Given the description of an element on the screen output the (x, y) to click on. 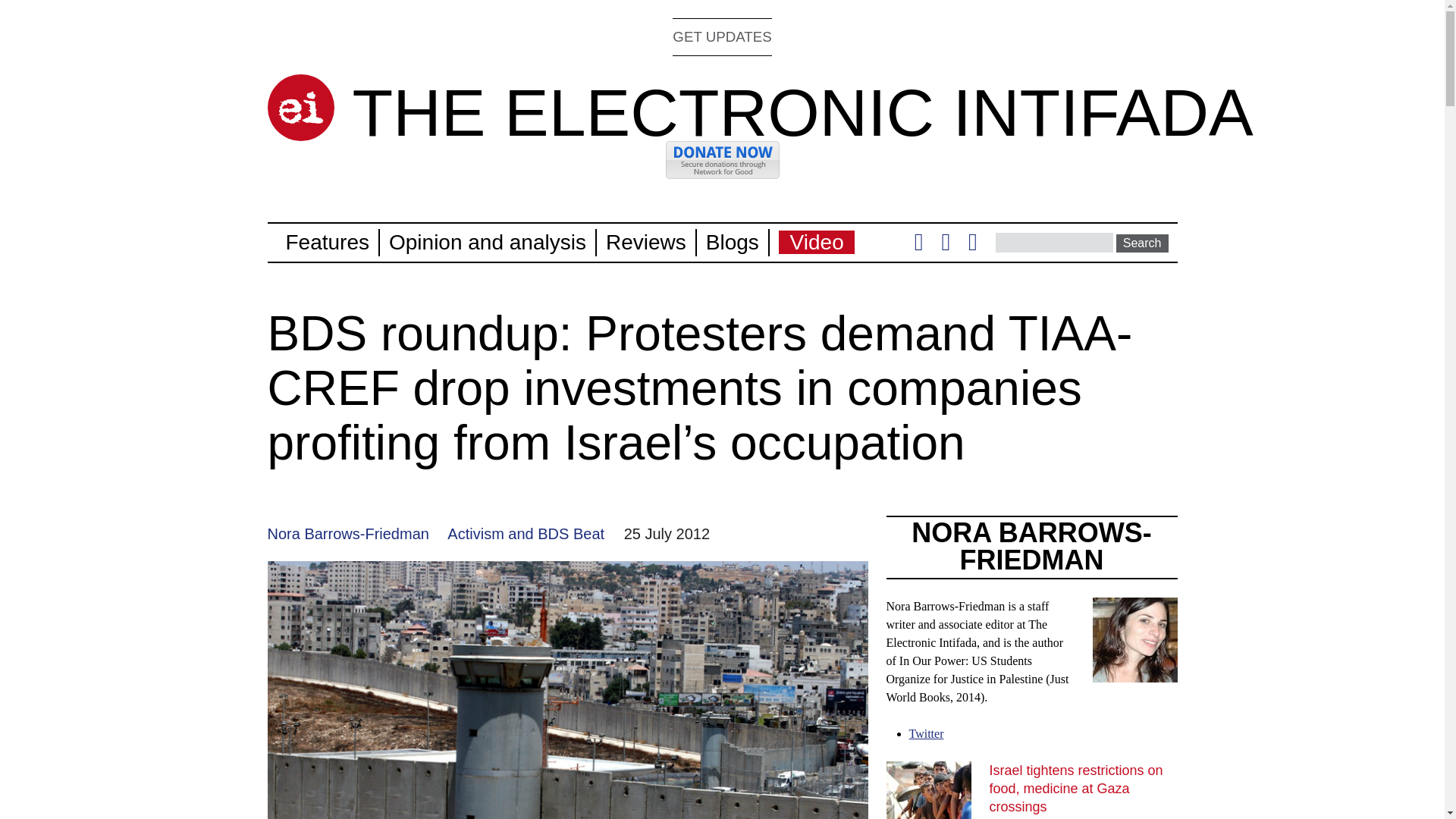
Nora Barrows-Friedman (347, 533)
Search (1142, 243)
Enter the terms you wish to search for. (1054, 242)
GET UPDATES (721, 37)
Activism and BDS Beat (525, 533)
Home (802, 112)
Home (299, 107)
Nora Barrows-Friedman's picture (1134, 672)
THE ELECTRONIC INTIFADA (802, 112)
Nora Barrows-Friedman's picture (1134, 639)
